Given the description of an element on the screen output the (x, y) to click on. 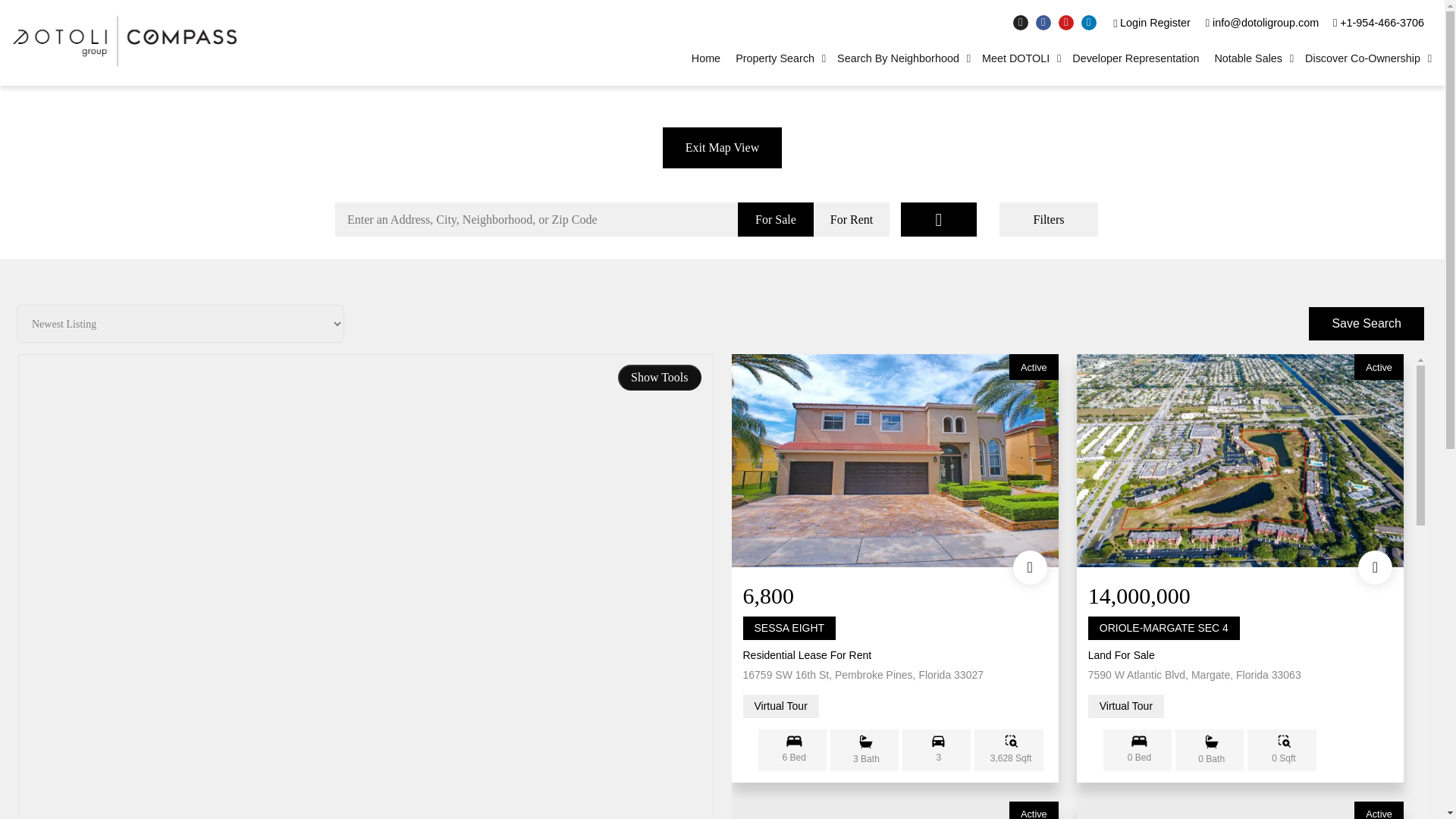
Add to favorites (1029, 567)
Search (938, 219)
Add to favorites (1374, 567)
